Given the description of an element on the screen output the (x, y) to click on. 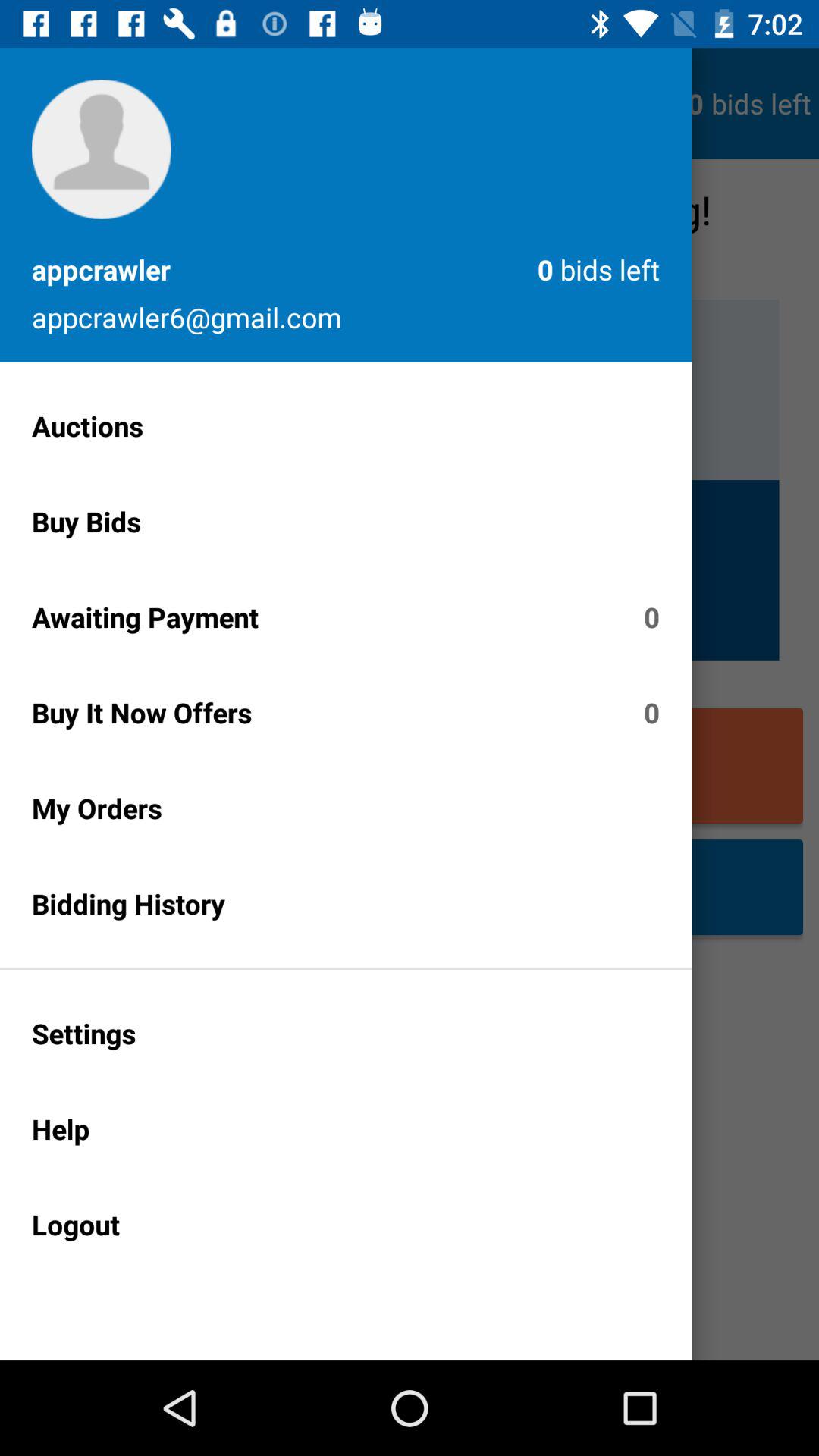
select the profile picture icon on the page (101, 149)
